Given the description of an element on the screen output the (x, y) to click on. 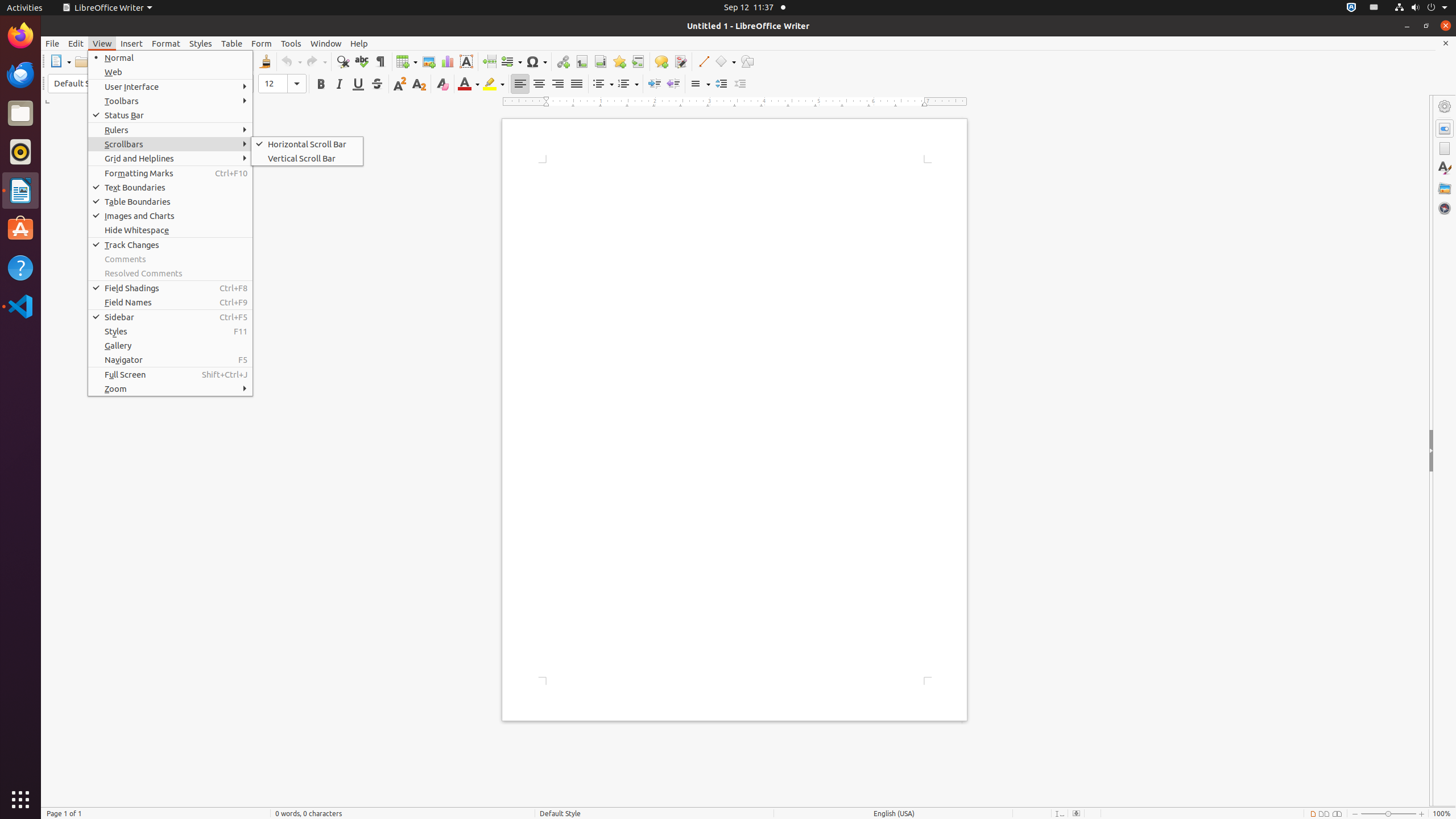
Edit Element type: menu (75, 43)
Properties Element type: radio-button (1444, 128)
Left Element type: toggle-button (519, 83)
Field Names Element type: check-menu-item (170, 302)
Grid and Helplines Element type: menu (170, 158)
